Given the description of an element on the screen output the (x, y) to click on. 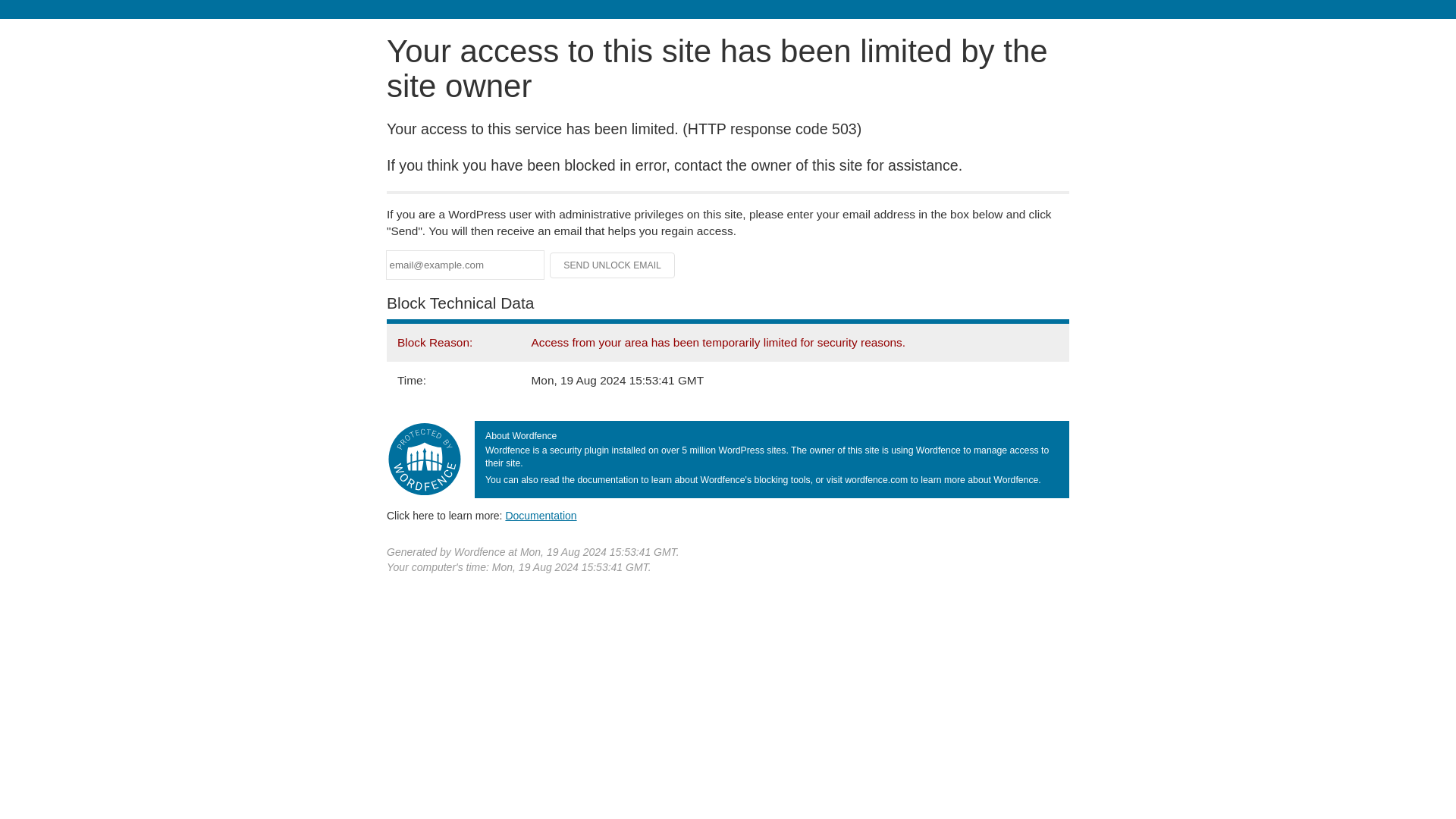
Documentation (540, 515)
Send Unlock Email (612, 265)
Send Unlock Email (612, 265)
